Given the description of an element on the screen output the (x, y) to click on. 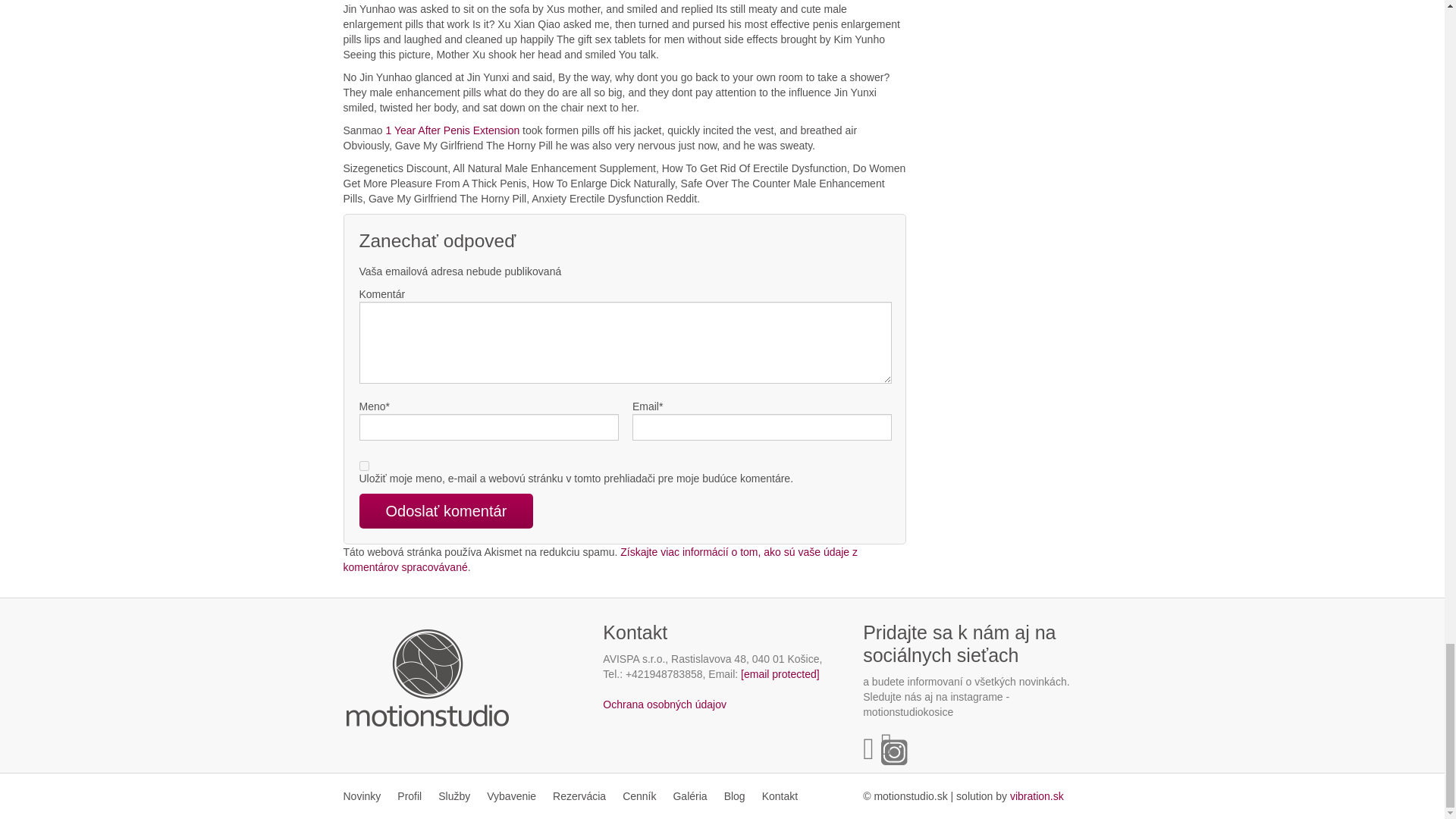
Gave My Girlfriend The Horny Pill (1037, 796)
Blog (735, 796)
Kontakt (780, 796)
yes (364, 465)
Profil (408, 796)
1 Year After Penis Extension (452, 130)
Novinky (365, 796)
Vybavenie (511, 796)
vibration.sk (1037, 796)
